Given the description of an element on the screen output the (x, y) to click on. 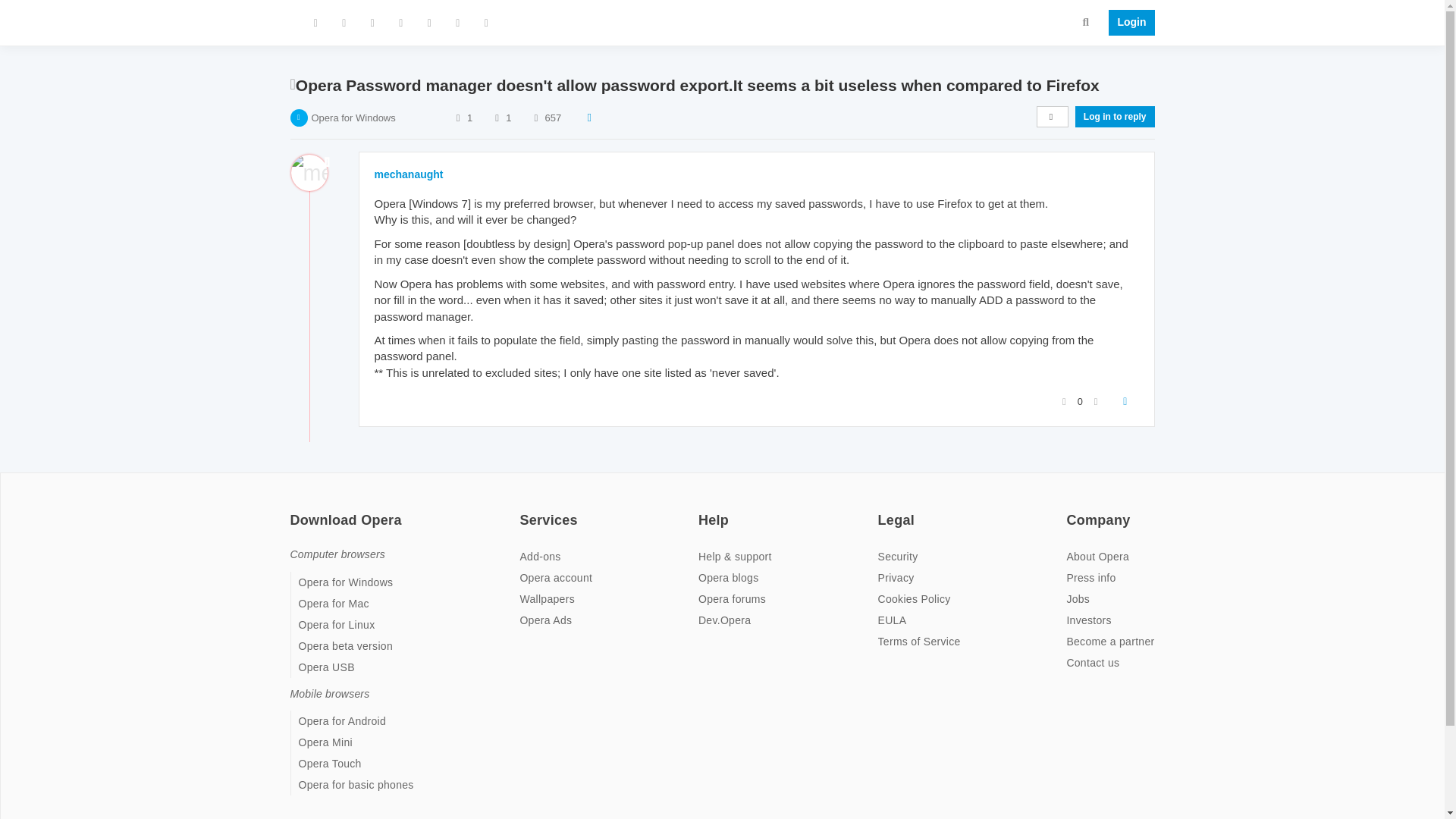
Search (1085, 21)
Rules (457, 22)
Locked (292, 83)
Log in to reply (1114, 116)
657 (553, 117)
Users (400, 22)
Groups (429, 22)
on (1070, 510)
on (702, 510)
1 (508, 117)
on (523, 510)
Views (535, 117)
Opera for Windows (352, 117)
1 (469, 117)
Categories (315, 22)
